Given the description of an element on the screen output the (x, y) to click on. 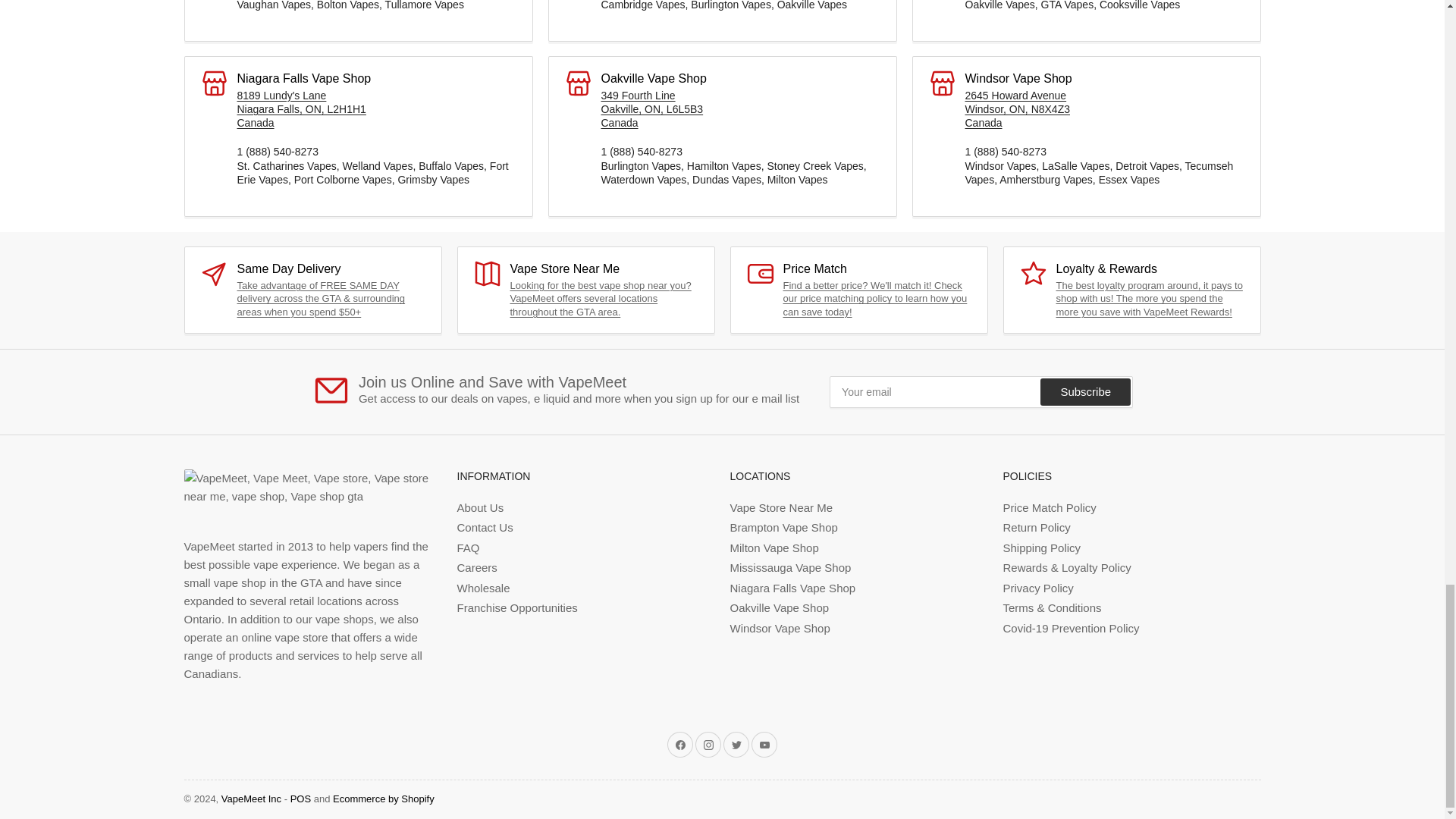
Shipping Policy (319, 298)
Price Match Policy (874, 298)
VapeMeet Oakville - The best vape store in Oakville (651, 108)
Vape Store Near Me (599, 298)
Windsor Vape Shop E-Cigarette E-Liquid Stores (1016, 108)
